Given the description of an element on the screen output the (x, y) to click on. 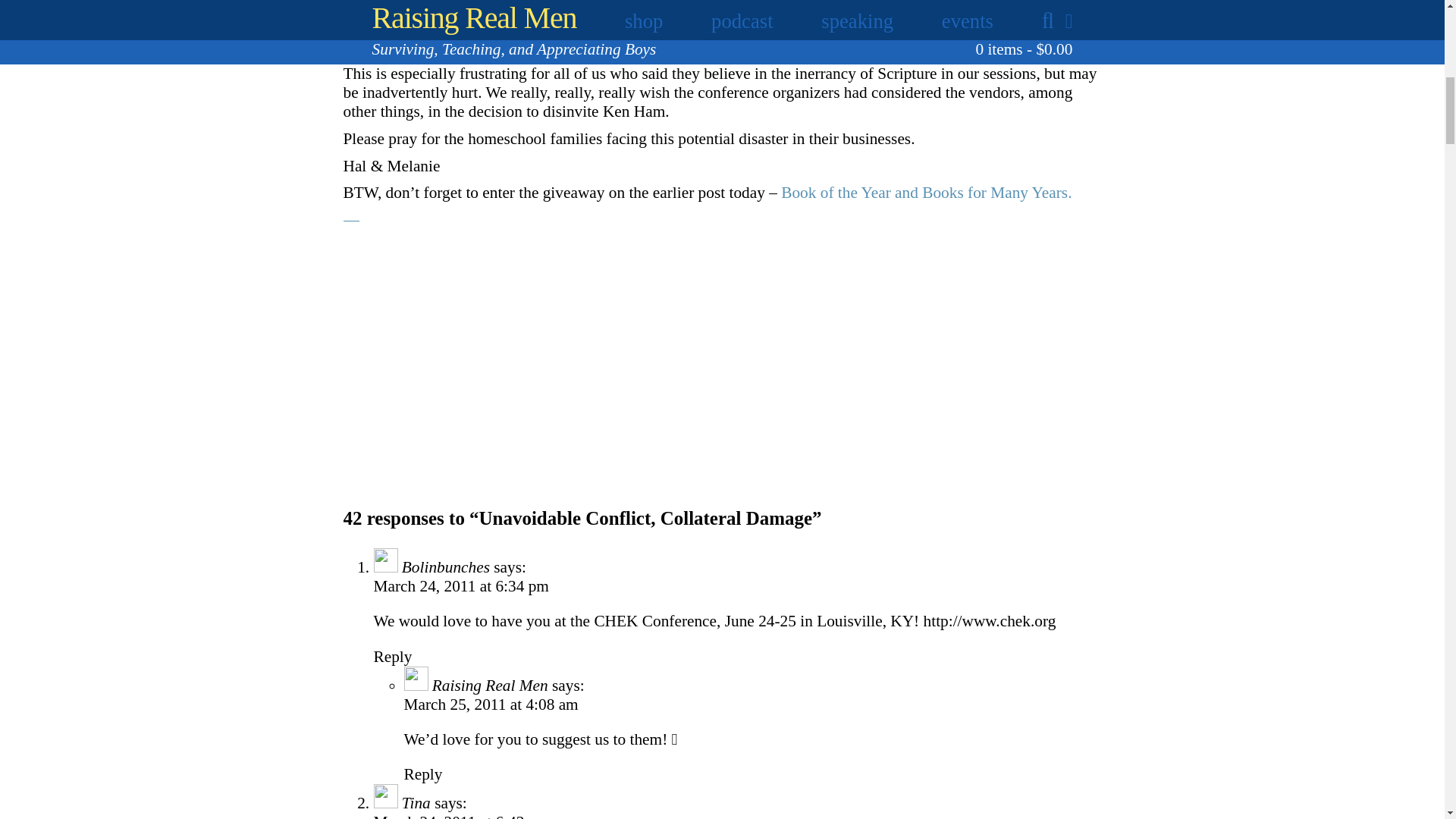
Book of the Year and Books for Many Years. (925, 192)
March 24, 2011 at 6:43 pm (460, 816)
March 25, 2011 at 4:08 am (490, 704)
Reply (422, 773)
Raising Real Men (490, 685)
Reply (392, 656)
March 24, 2011 at 6:34 pm (460, 586)
